Given the description of an element on the screen output the (x, y) to click on. 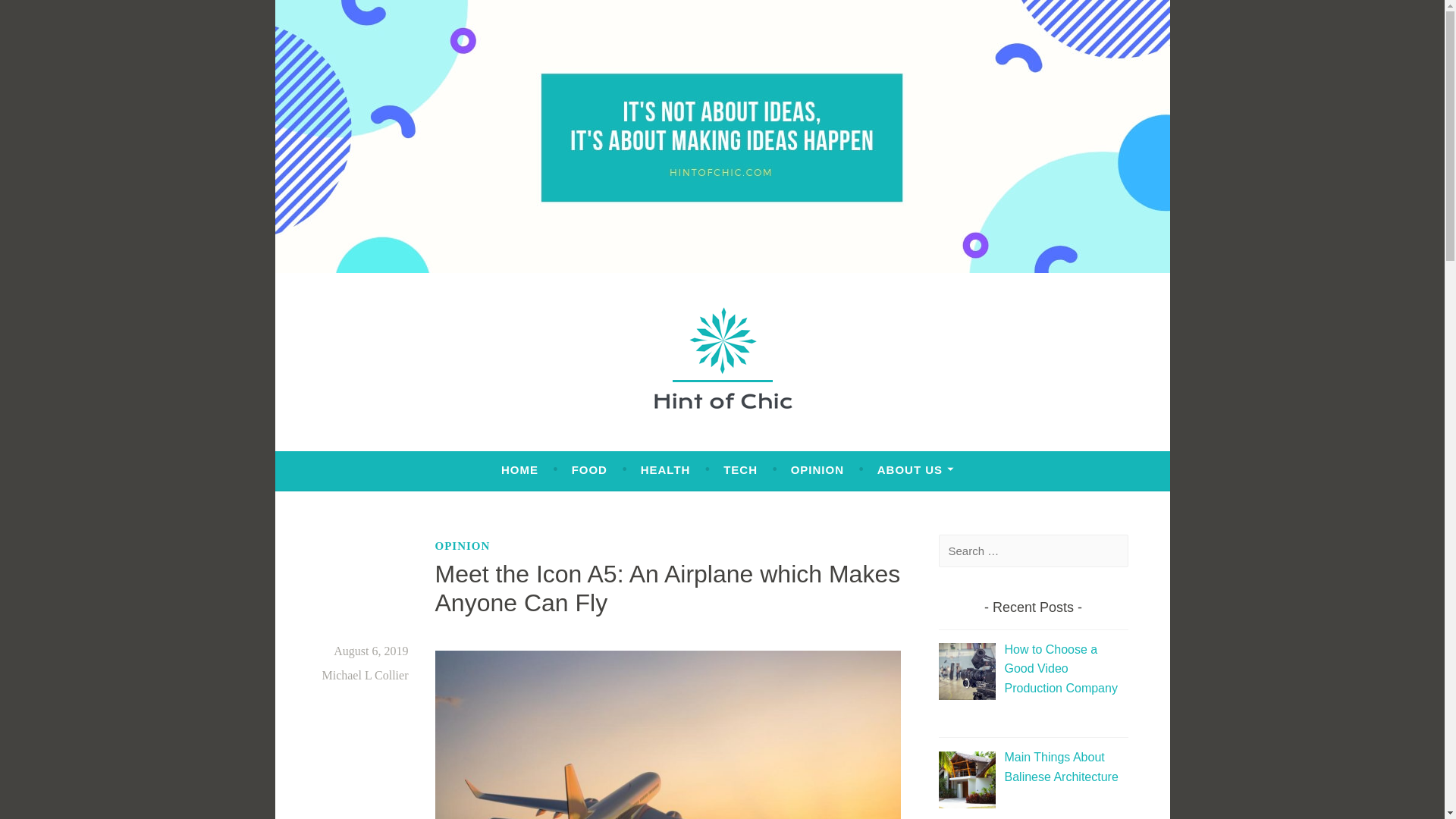
TECH (740, 470)
FOOD (589, 470)
HOME (519, 470)
Search (37, 15)
OPINION (462, 546)
OPINION (817, 470)
August 6, 2019 (370, 650)
Main Things About Balinese Architecture (1061, 766)
Hint of Chic (406, 444)
Michael L Collier (364, 675)
HEALTH (665, 470)
How to Choose a Good Video Production Company (1060, 668)
ABOUT US (916, 470)
